Given the description of an element on the screen output the (x, y) to click on. 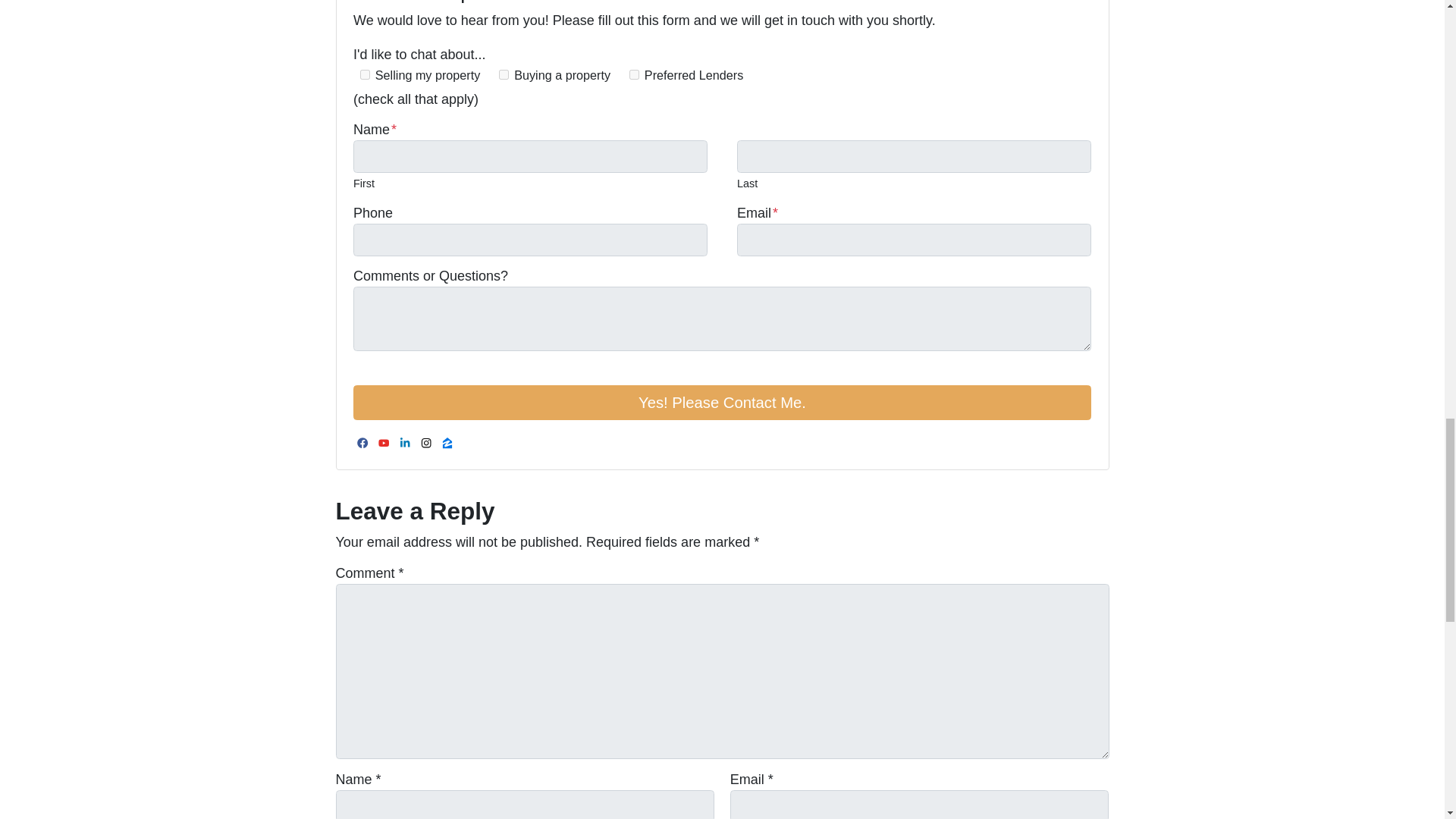
Zillow (447, 443)
Buying a property (503, 74)
Yes! Please Contact Me.  (721, 402)
Instagram (425, 443)
Preferred Lenders (633, 74)
Yes! Please Contact Me.  (721, 402)
Selling my property (364, 74)
Facebook (362, 443)
LinkedIn (404, 443)
YouTube (383, 443)
